Given the description of an element on the screen output the (x, y) to click on. 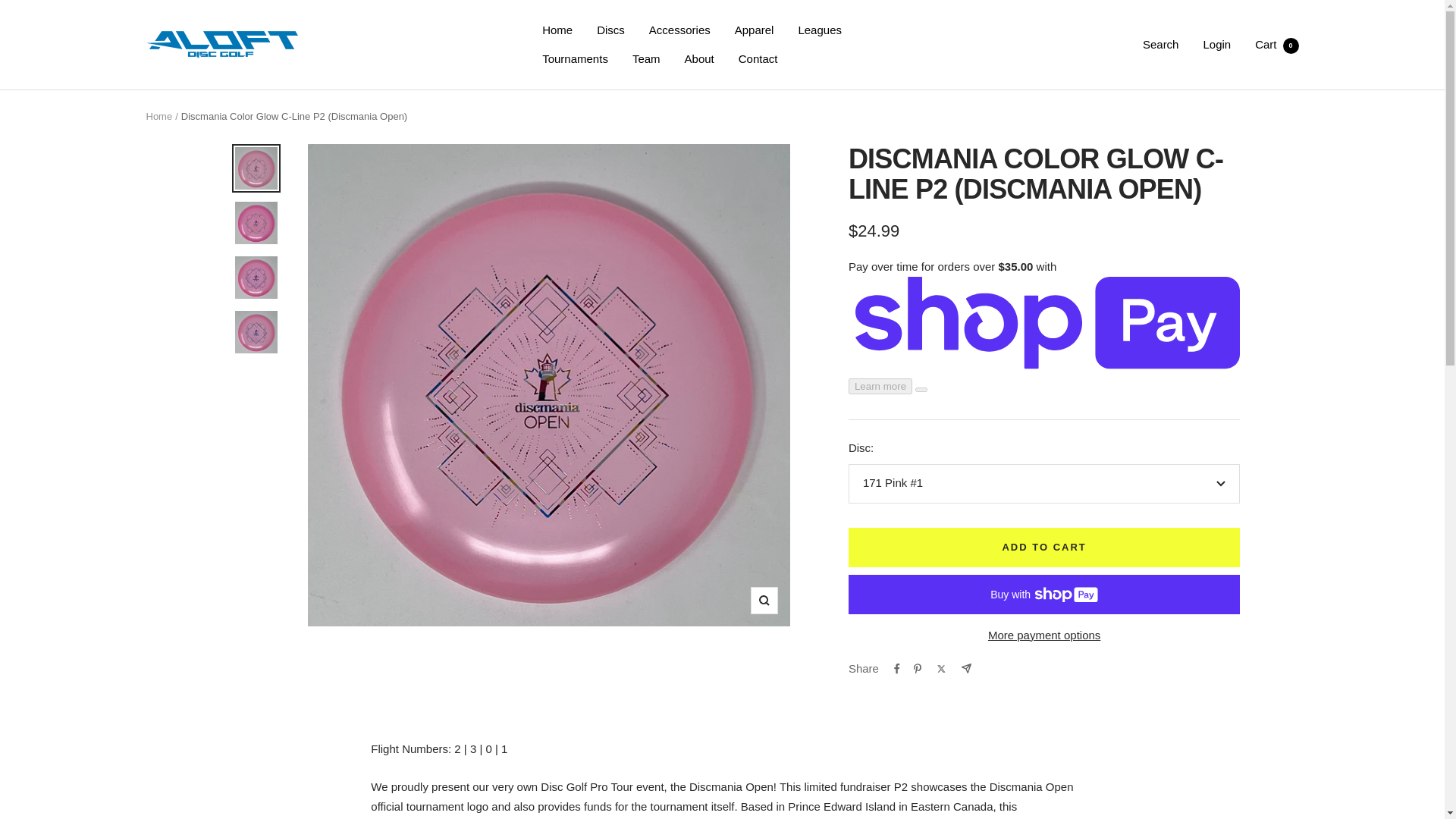
Tournaments (574, 58)
Contact (757, 58)
Login (1216, 43)
Zoom (764, 600)
Accessories (679, 30)
Leagues (819, 30)
Home (556, 30)
Aloft Disc Golf (221, 44)
Home (158, 116)
Discs (610, 30)
